Given the description of an element on the screen output the (x, y) to click on. 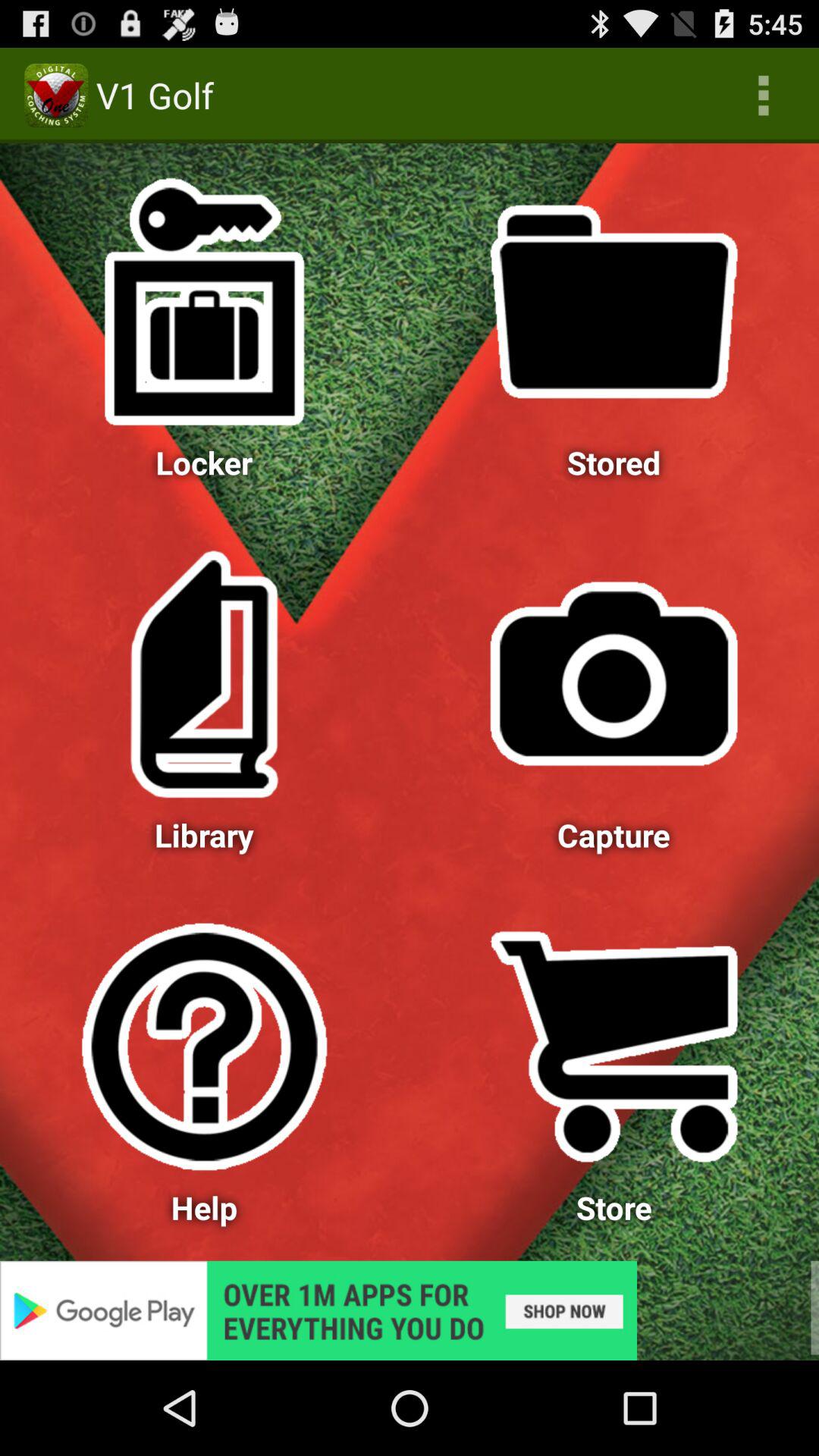
launch the item at the bottom (409, 1310)
